Given the description of an element on the screen output the (x, y) to click on. 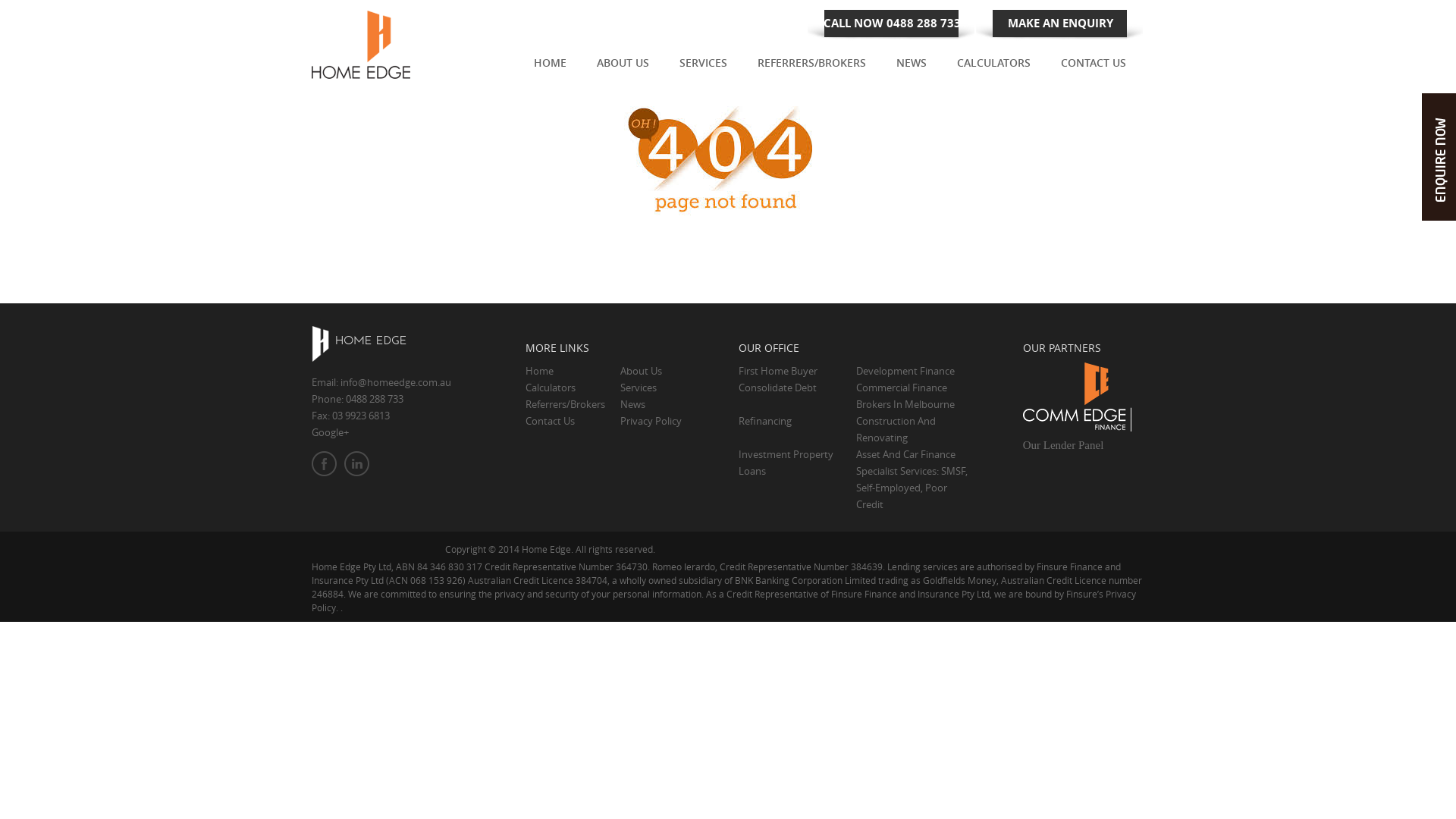
Home Element type: text (539, 370)
SERVICES Element type: text (703, 67)
ABOUT US Element type: text (622, 67)
info@homeedge.com.au Element type: text (395, 382)
Contact Us Element type: text (549, 420)
Commercial Finance Brokers In Melbourne Element type: text (905, 395)
CONTACT US Element type: text (1093, 67)
Home Edge Element type: hover (1076, 395)
Construction And Renovating Element type: text (895, 429)
Calculators Element type: text (550, 387)
linkedin Element type: text (356, 463)
Privacy Policy Element type: text (650, 420)
Our Lender Panel Element type: text (1063, 445)
REFERRERS/BROKERS Element type: text (811, 67)
Refinancing Element type: text (764, 420)
Consolidate Debt Element type: text (777, 387)
Development Finance Element type: text (905, 370)
About Us Element type: text (641, 370)
facebook Element type: text (323, 463)
Asset And Car Finance Element type: text (905, 454)
Referrers/Brokers Element type: text (565, 404)
CALCULATORS Element type: text (993, 67)
HOME Element type: text (549, 67)
Investment Property Loans Element type: text (785, 462)
News Element type: text (632, 404)
First Home Buyer Element type: text (777, 370)
Home Edge Element type: hover (361, 43)
Google+ Element type: text (329, 432)
NEWS Element type: text (911, 67)
Services Element type: text (638, 387)
Specialist Services: SMSF, Self-Employed, Poor Credit Element type: text (911, 487)
